Given the description of an element on the screen output the (x, y) to click on. 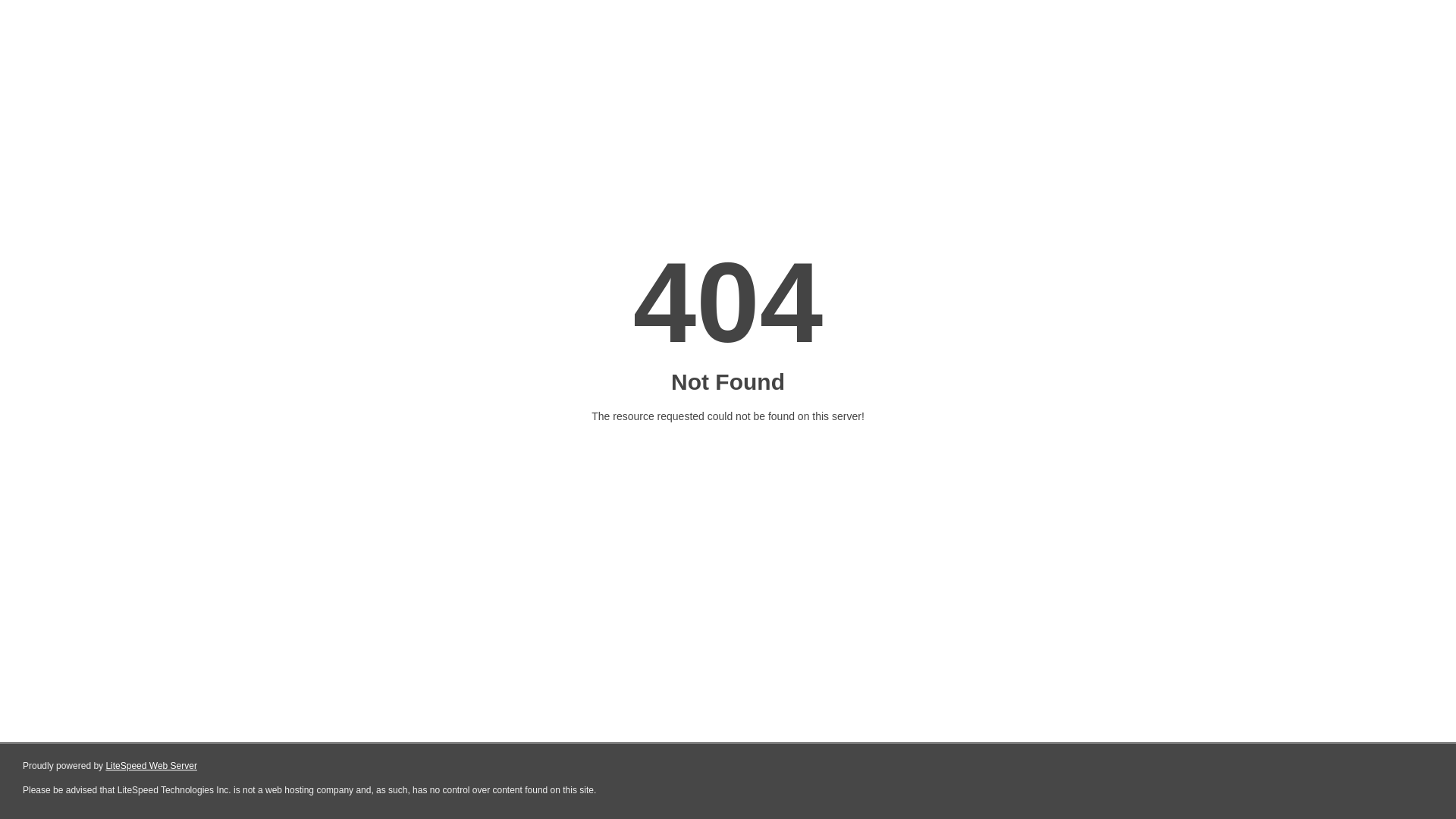
LiteSpeed Web Server Element type: text (151, 765)
